Given the description of an element on the screen output the (x, y) to click on. 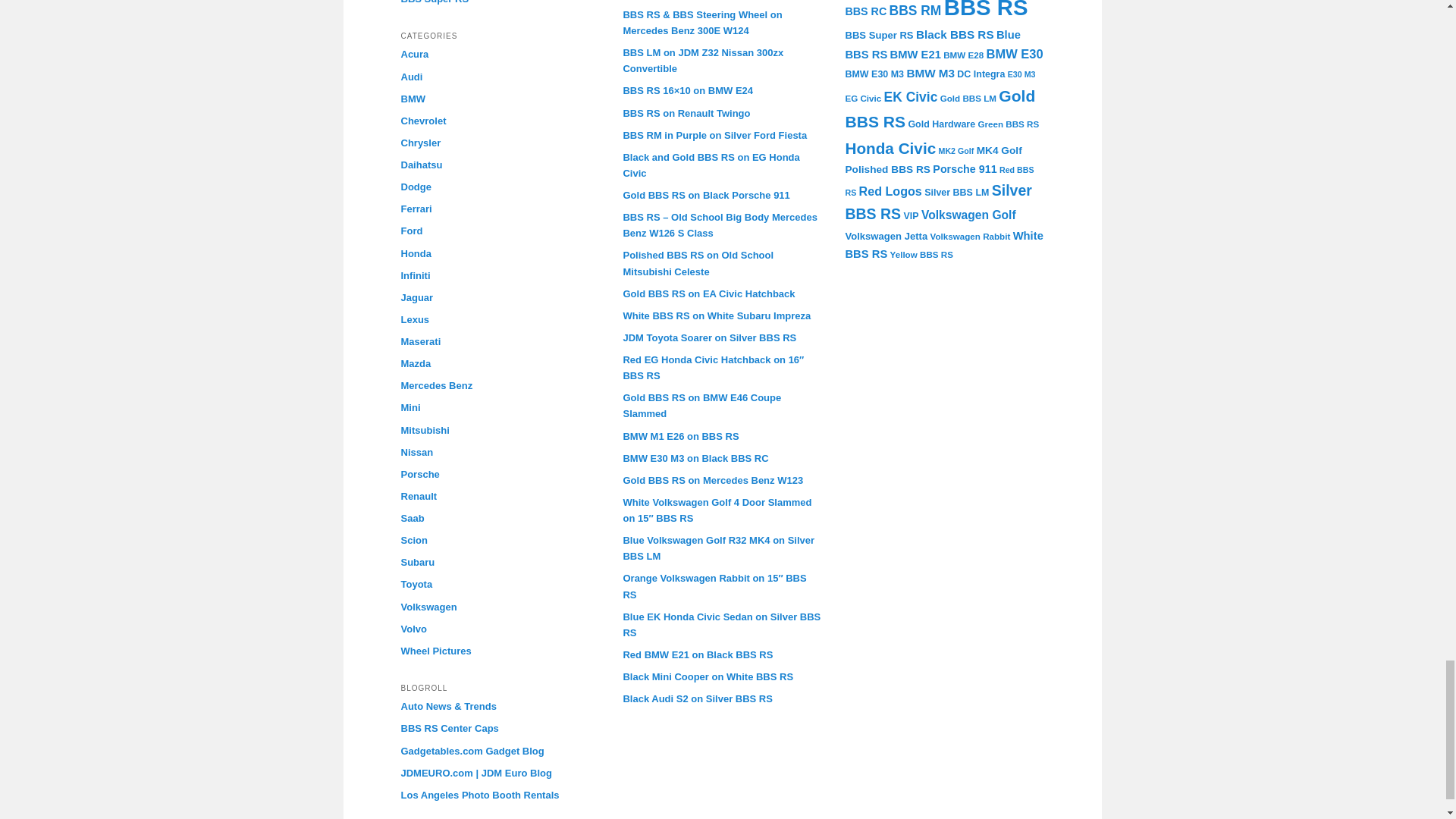
Gadgetables Gadget Blog (471, 750)
BBS RS Center Caps (448, 727)
